Given the description of an element on the screen output the (x, y) to click on. 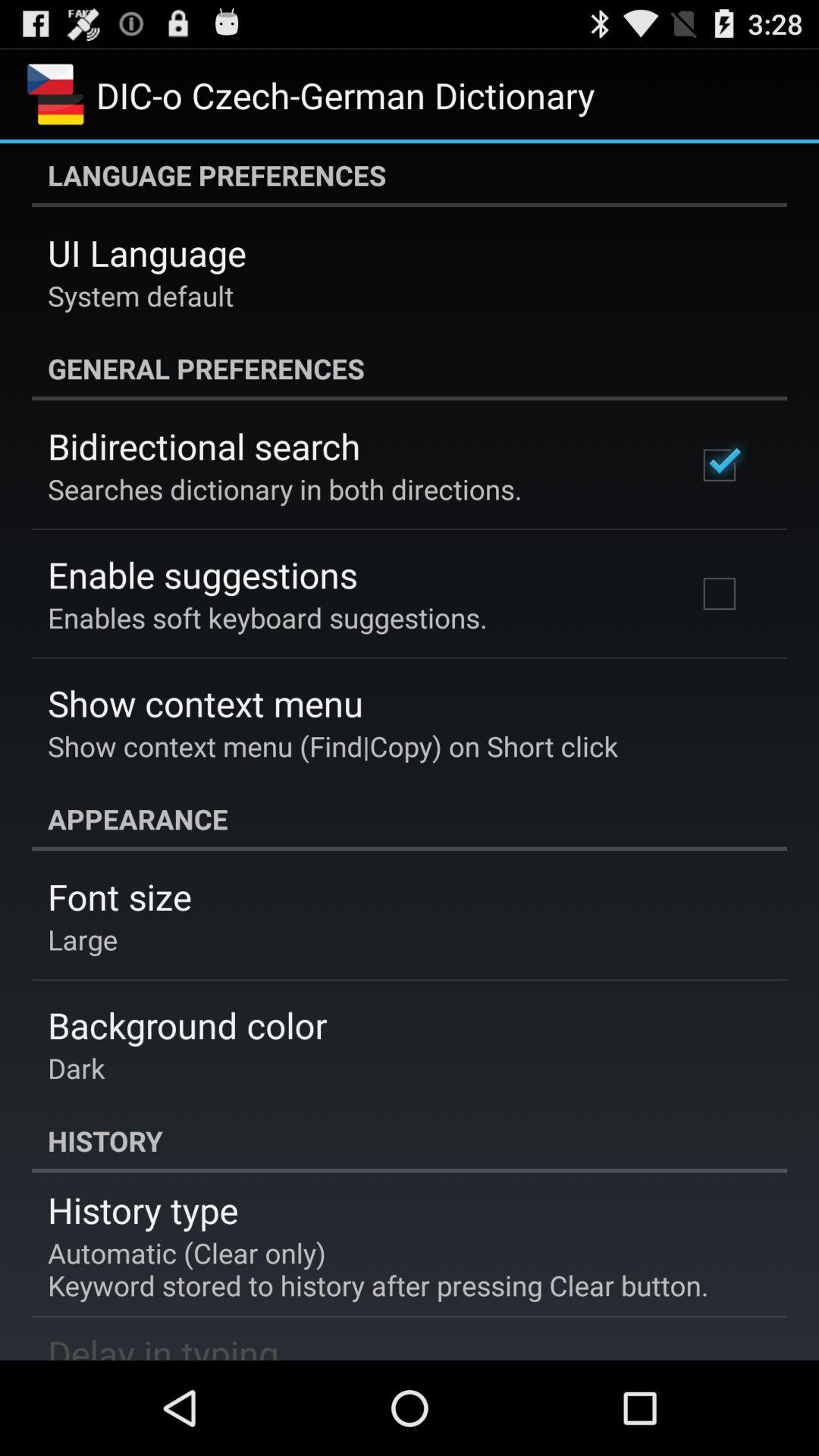
press item below searches dictionary in app (202, 574)
